Given the description of an element on the screen output the (x, y) to click on. 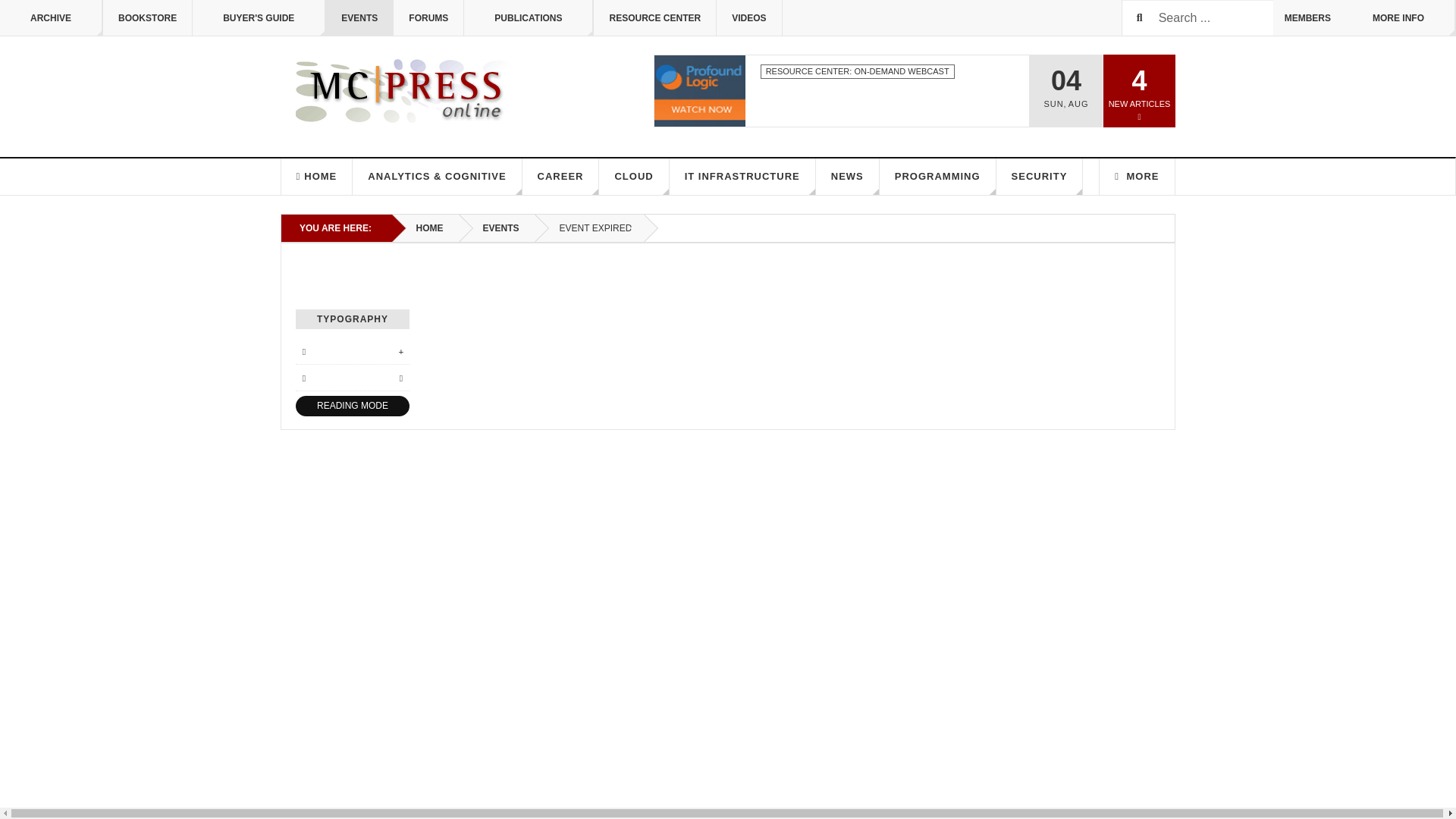
Search ... (1196, 18)
Search ... (1196, 18)
MC Press Online (405, 90)
BOOKSTORE (147, 18)
Category:  (857, 71)
